Given the description of an element on the screen output the (x, y) to click on. 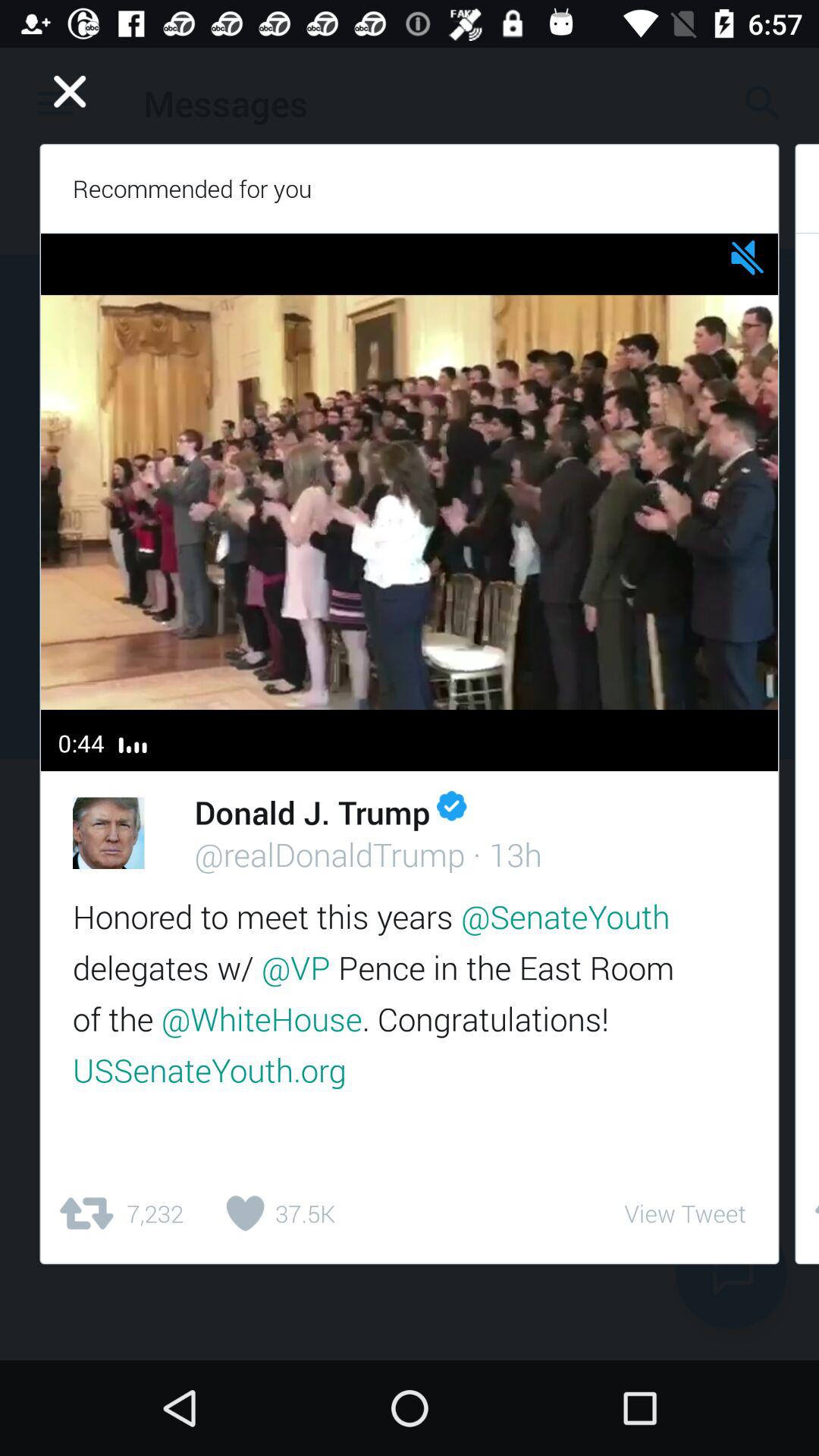
launch the icon below honored to meet (275, 1213)
